Given the description of an element on the screen output the (x, y) to click on. 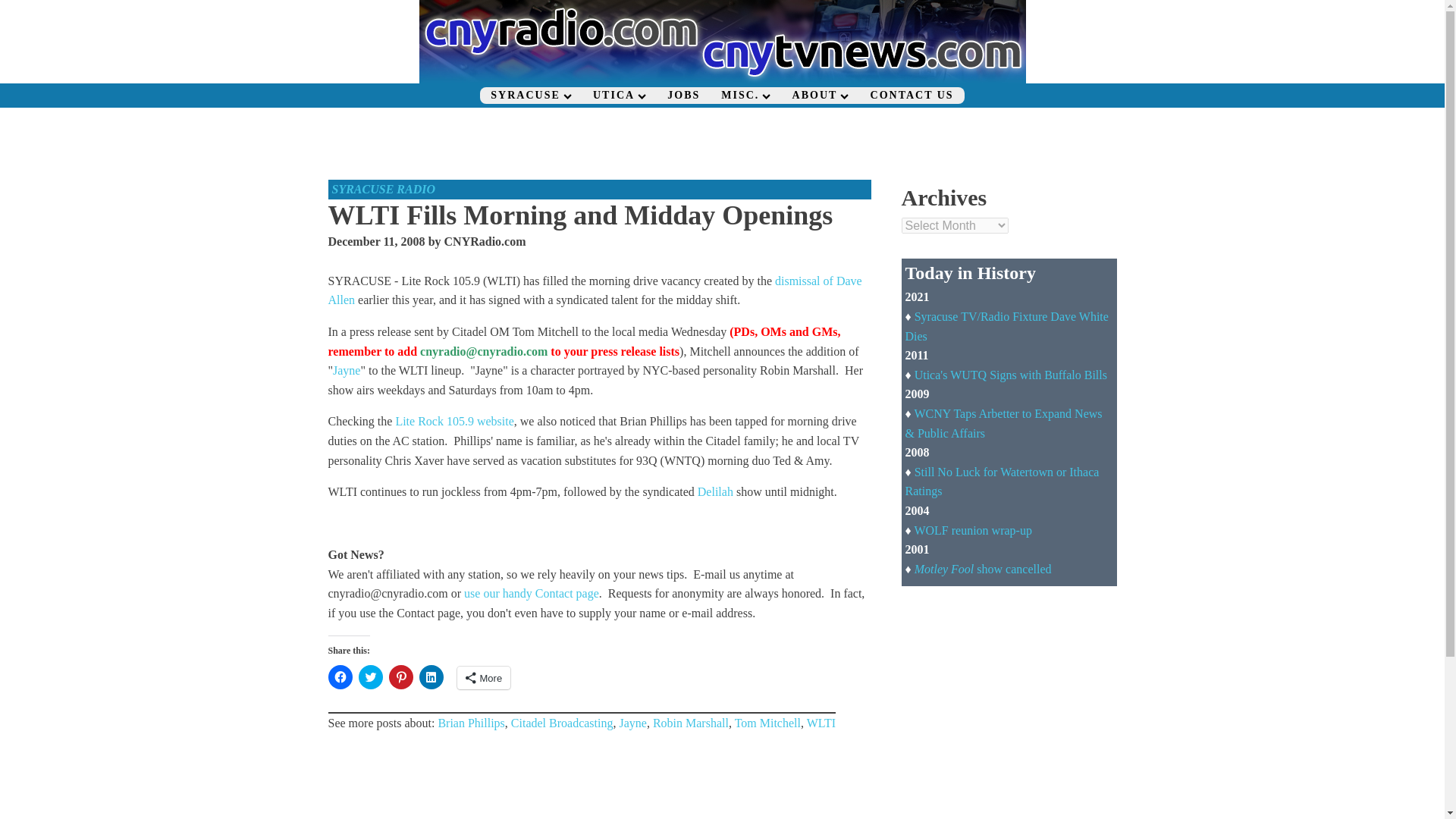
MISC. (745, 95)
More (484, 677)
Delilah (715, 491)
UTICA (619, 95)
Click to share on Twitter (369, 677)
ABOUT (820, 95)
Jayne (346, 369)
dismissal of Dave Allen (594, 290)
CONTACT US (911, 95)
Click to share on Pinterest (400, 677)
